Given the description of an element on the screen output the (x, y) to click on. 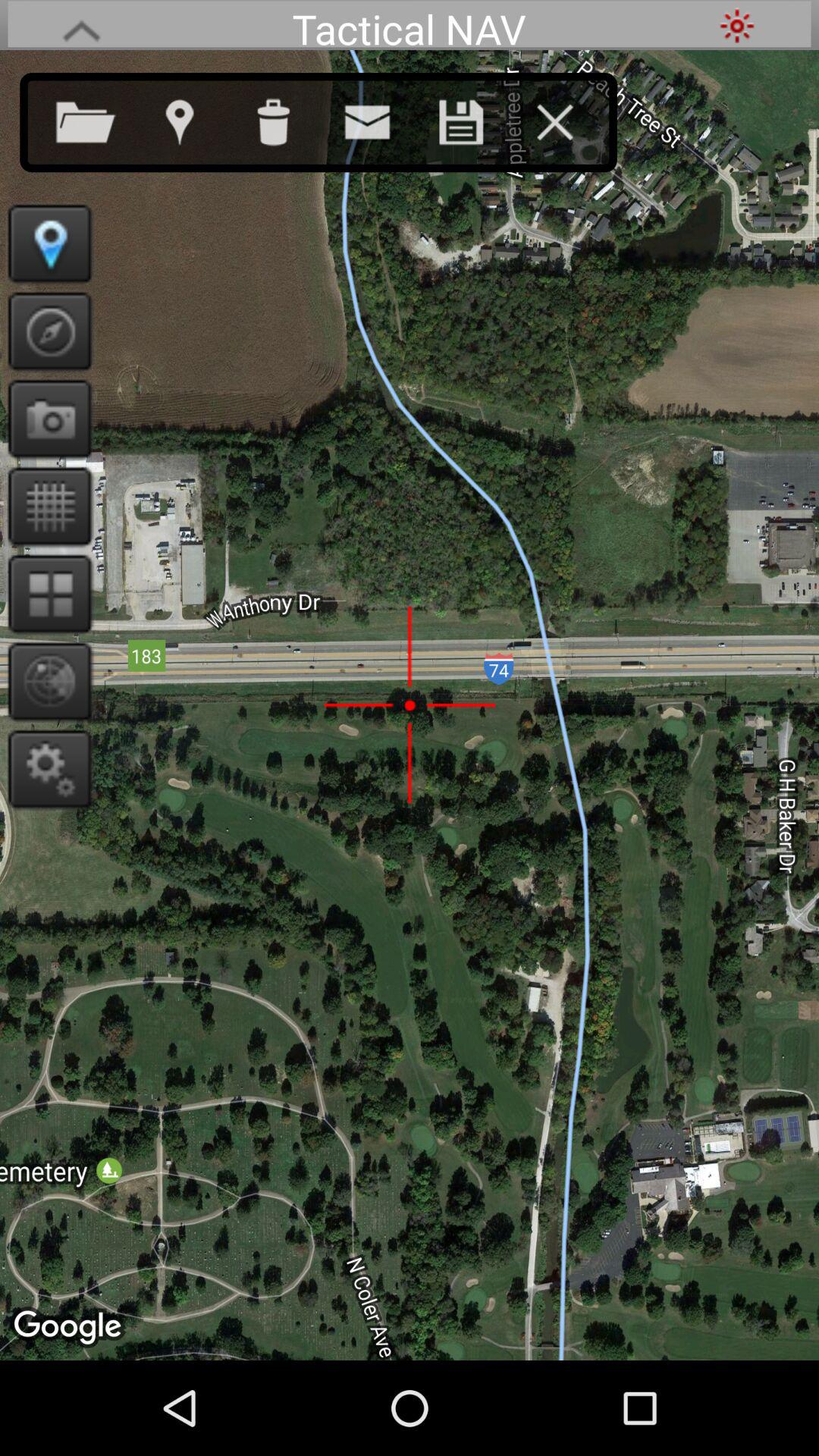
open settings (45, 768)
